Given the description of an element on the screen output the (x, y) to click on. 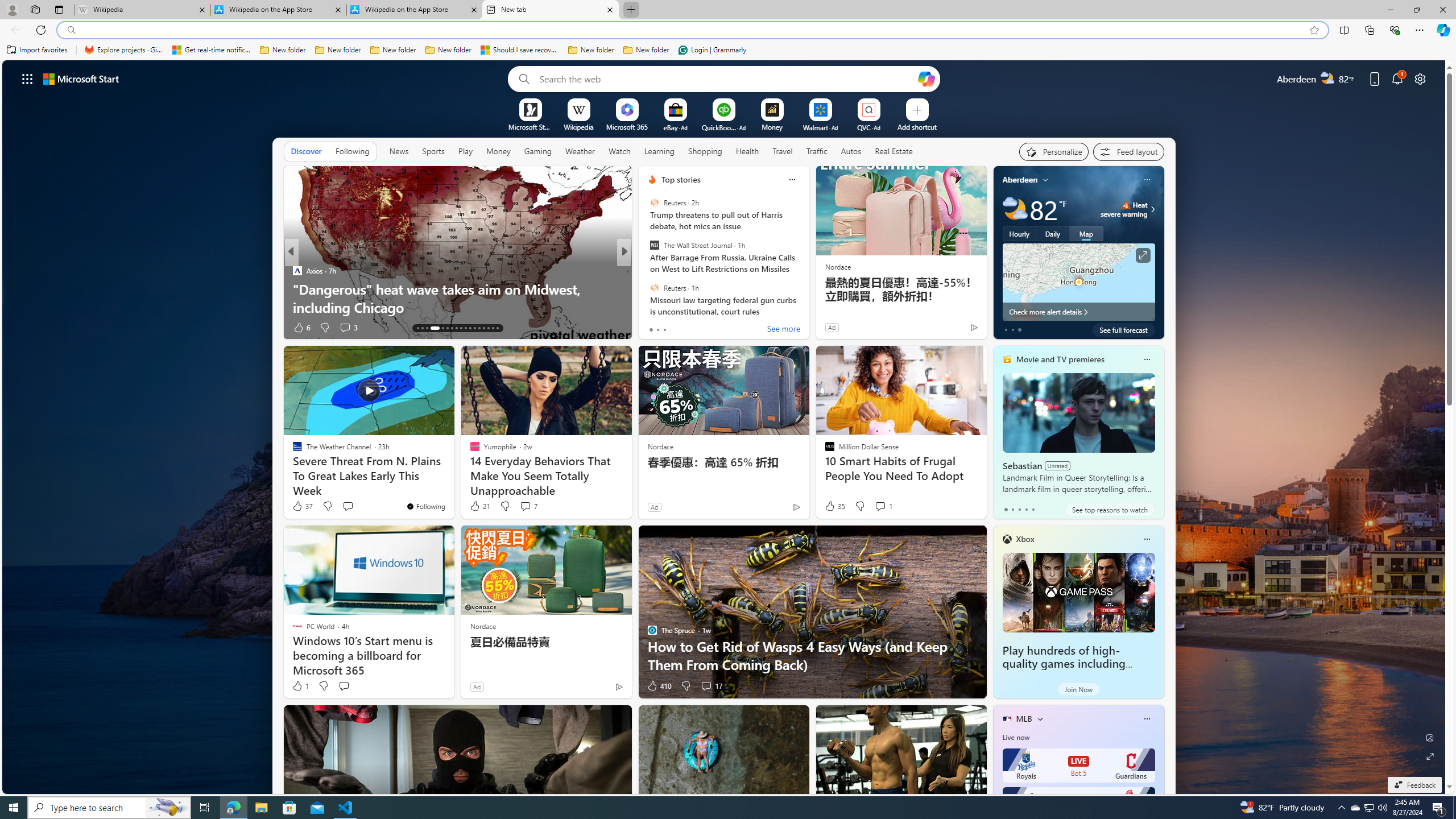
View comments 11 Comment (703, 327)
Personalize your feed" (1054, 151)
Class: weather-arrow-glyph (1152, 208)
Expand background (1430, 756)
149 Like (654, 327)
View comments 7 Comment (528, 505)
View comments 11 Comment (707, 327)
GOBankingRates (296, 288)
tab-0 (1005, 509)
